Given the description of an element on the screen output the (x, y) to click on. 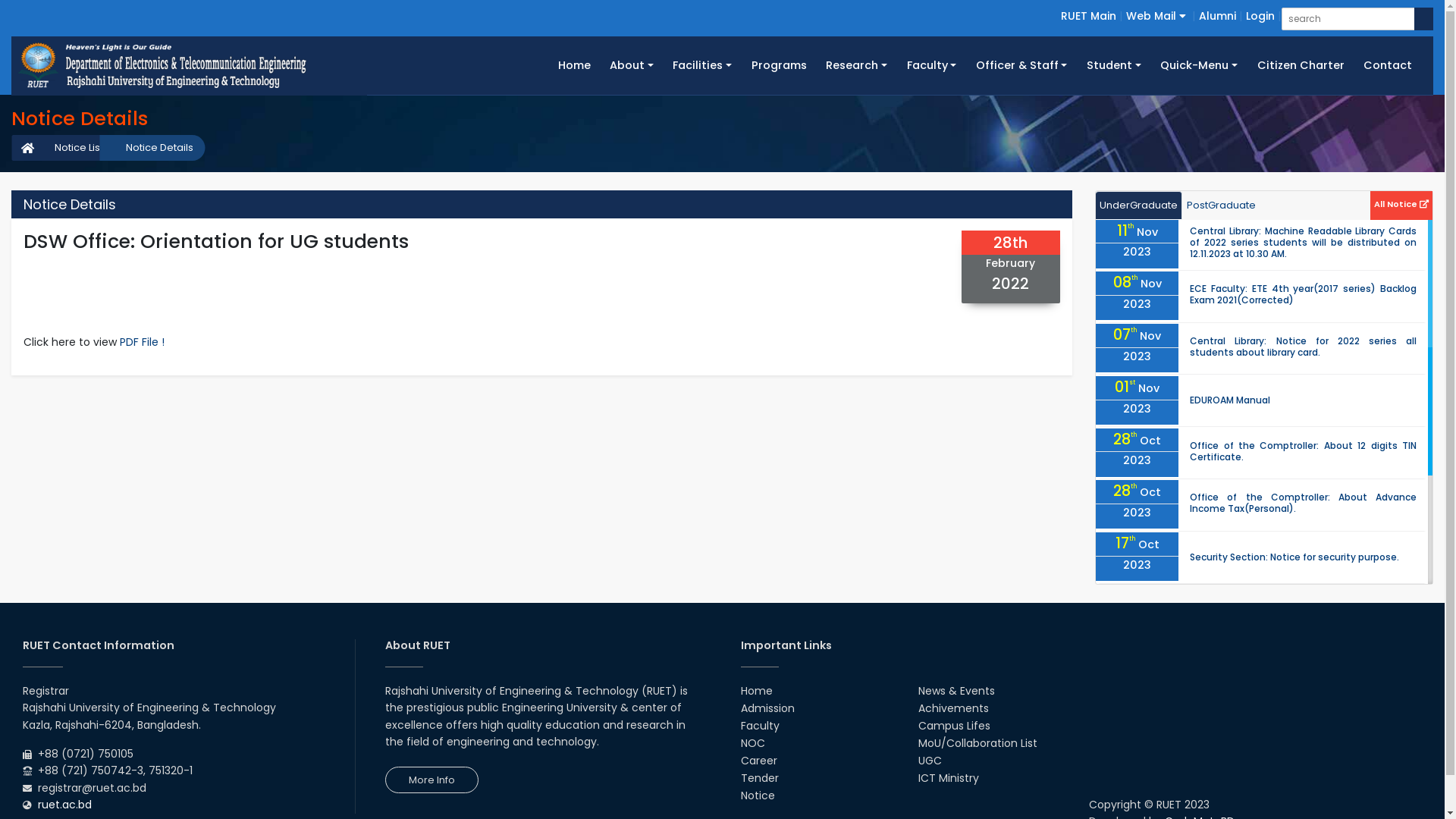
NOC Element type: text (752, 742)
Login Element type: text (1259, 15)
Notice List Element type: text (71, 147)
News & Events Element type: text (956, 690)
Notice Details Element type: text (151, 147)
About Element type: text (630, 65)
Faculty Element type: text (759, 725)
Alumni Element type: text (1217, 15)
EDUROAM Manual Element type: text (1229, 399)
Programs Element type: text (778, 65)
ruet.ac.bd Element type: text (64, 804)
MoU/Collaboration List Element type: text (977, 742)
Home Element type: text (755, 690)
Contact Element type: text (1387, 65)
Home
(Current) Element type: text (574, 65)
Research Element type: text (855, 65)
ICT Ministry Element type: text (948, 777)
Faculty Element type: text (931, 65)
Admission Element type: text (766, 707)
Officer & Staff Element type: text (1021, 65)
UGC Element type: text (929, 760)
Achivements Element type: text (953, 707)
Quick-Menu Element type: text (1199, 65)
Career Element type: text (758, 760)
Tender Element type: text (759, 777)
PostGraduate Element type: text (1221, 205)
Web Mail Element type: text (1156, 15)
Student Element type: text (1113, 65)
RUET Main Element type: text (1088, 15)
Security Section: Notice for security purpose. Element type: text (1294, 556)
PDF File ! Element type: text (141, 341)
Citizen Charter Element type: text (1300, 65)
All Notice Element type: text (1401, 203)
Campus Lifes Element type: text (954, 725)
Facilities Element type: text (702, 65)
Notice Element type: text (757, 795)
UnderGraduate Element type: text (1138, 205)
More Info Element type: text (431, 779)
Office of the Comptroller: About 12 digits TIN Certificate. Element type: text (1302, 450)
